Given the description of an element on the screen output the (x, y) to click on. 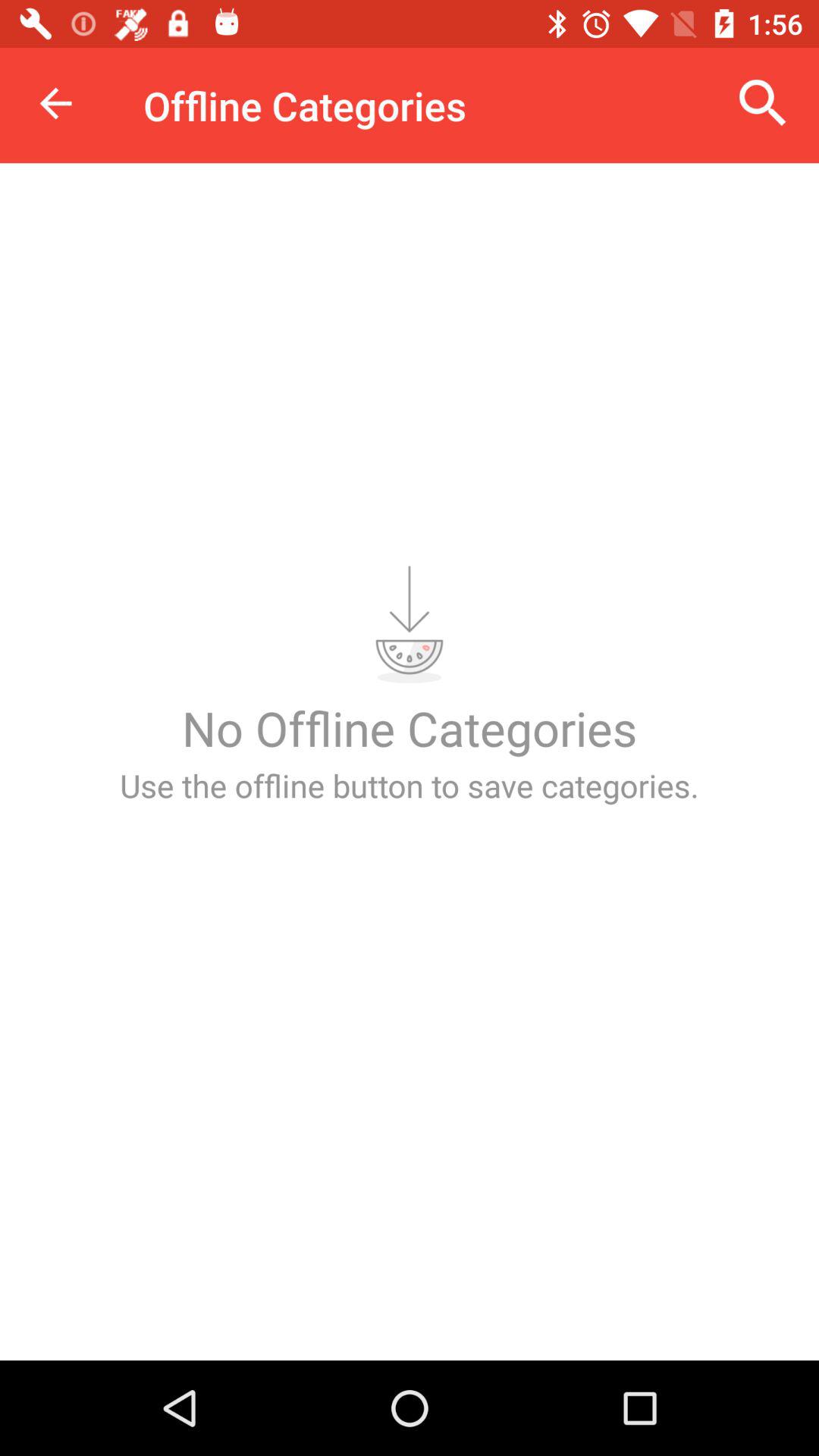
click the icon next to offline categories icon (763, 103)
